Given the description of an element on the screen output the (x, y) to click on. 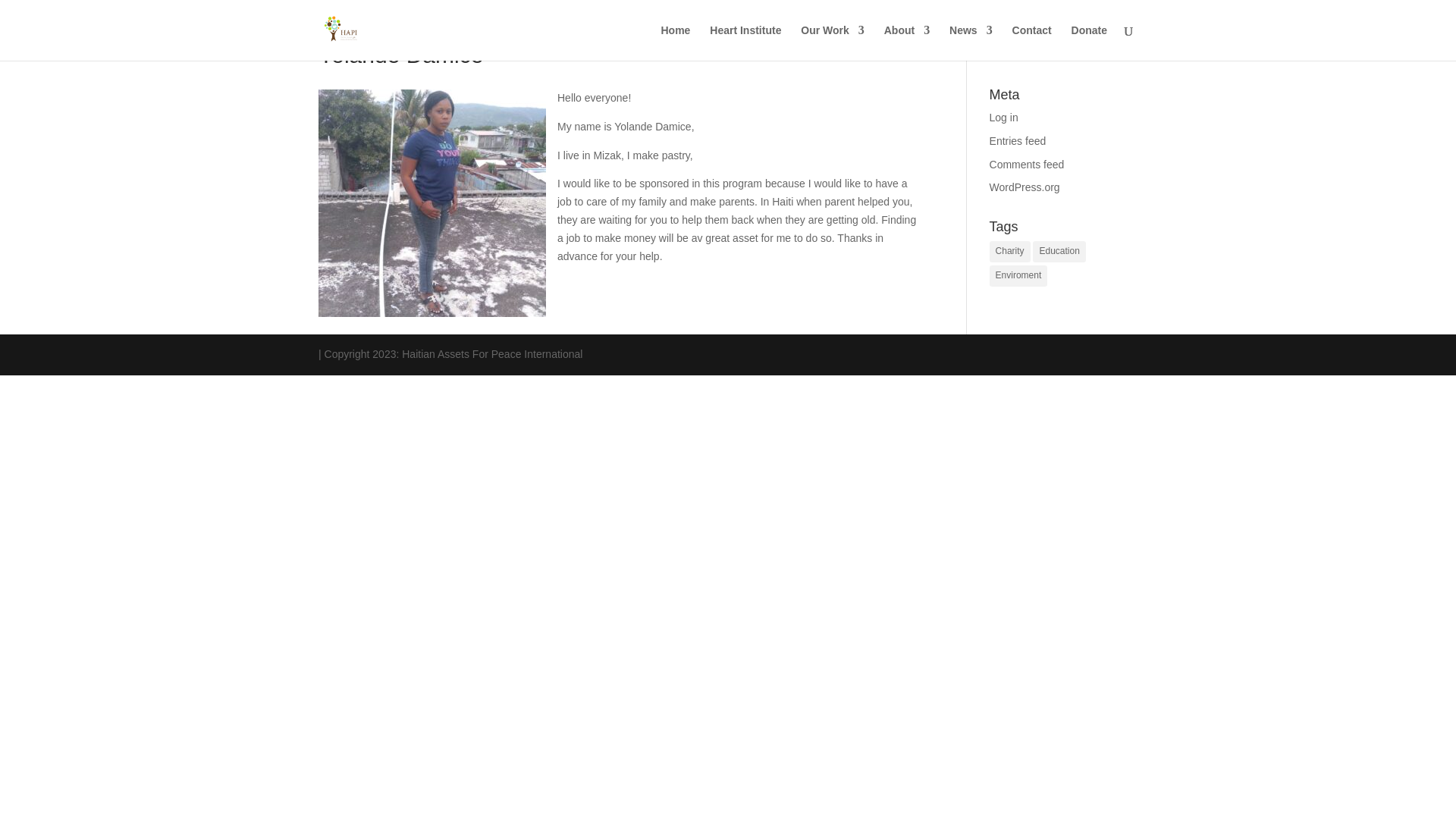
Entries feed (1018, 141)
Donate (1088, 42)
Comments feed (1027, 164)
Education (1058, 251)
Heart Institute (745, 42)
Contact (1031, 42)
Log in (1003, 117)
Charity (1010, 251)
WordPress.org (1024, 186)
News (970, 42)
About (906, 42)
Our Work (832, 42)
Enviroment (1019, 275)
